Given the description of an element on the screen output the (x, y) to click on. 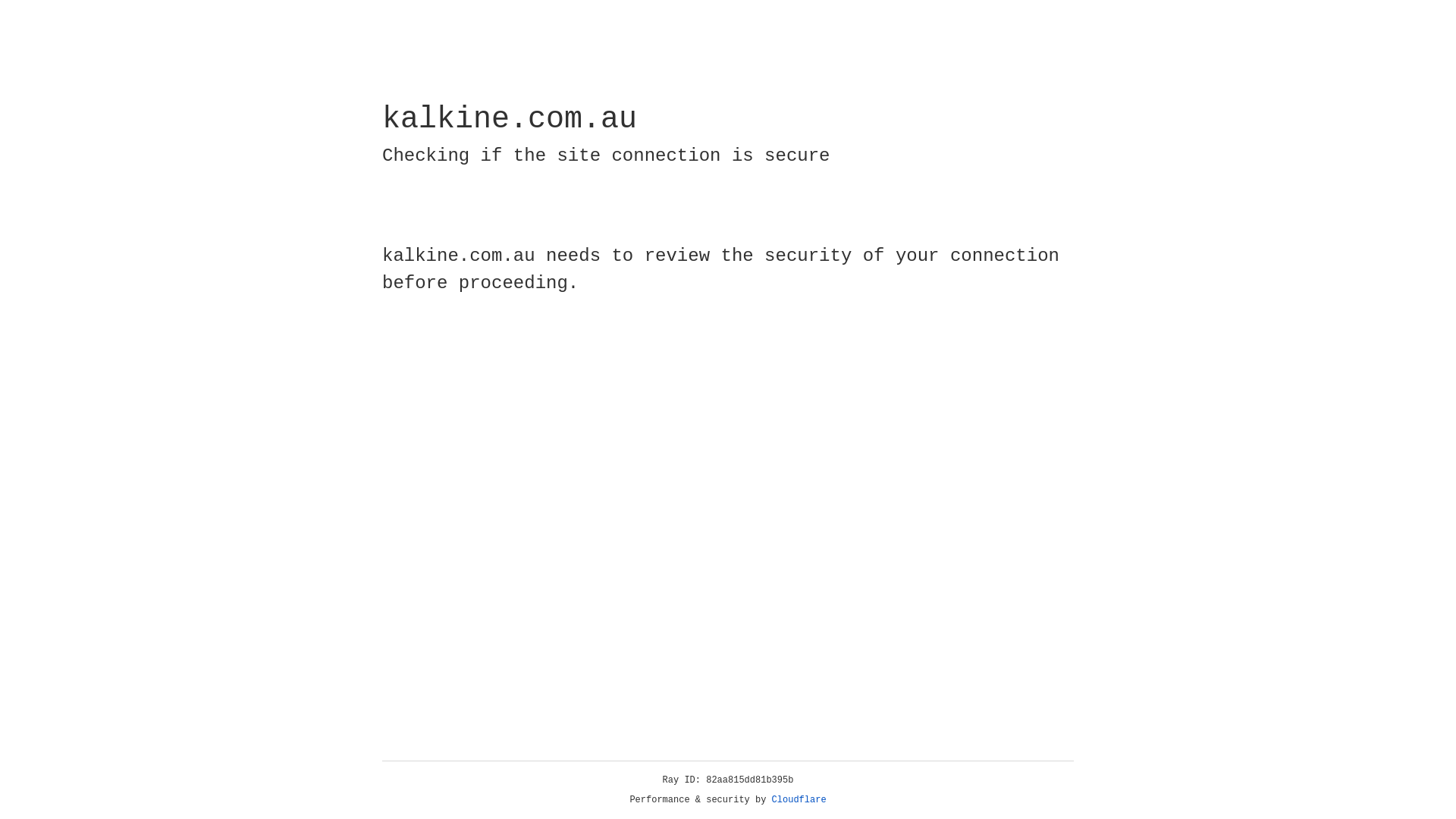
Cloudflare Element type: text (798, 799)
